Given the description of an element on the screen output the (x, y) to click on. 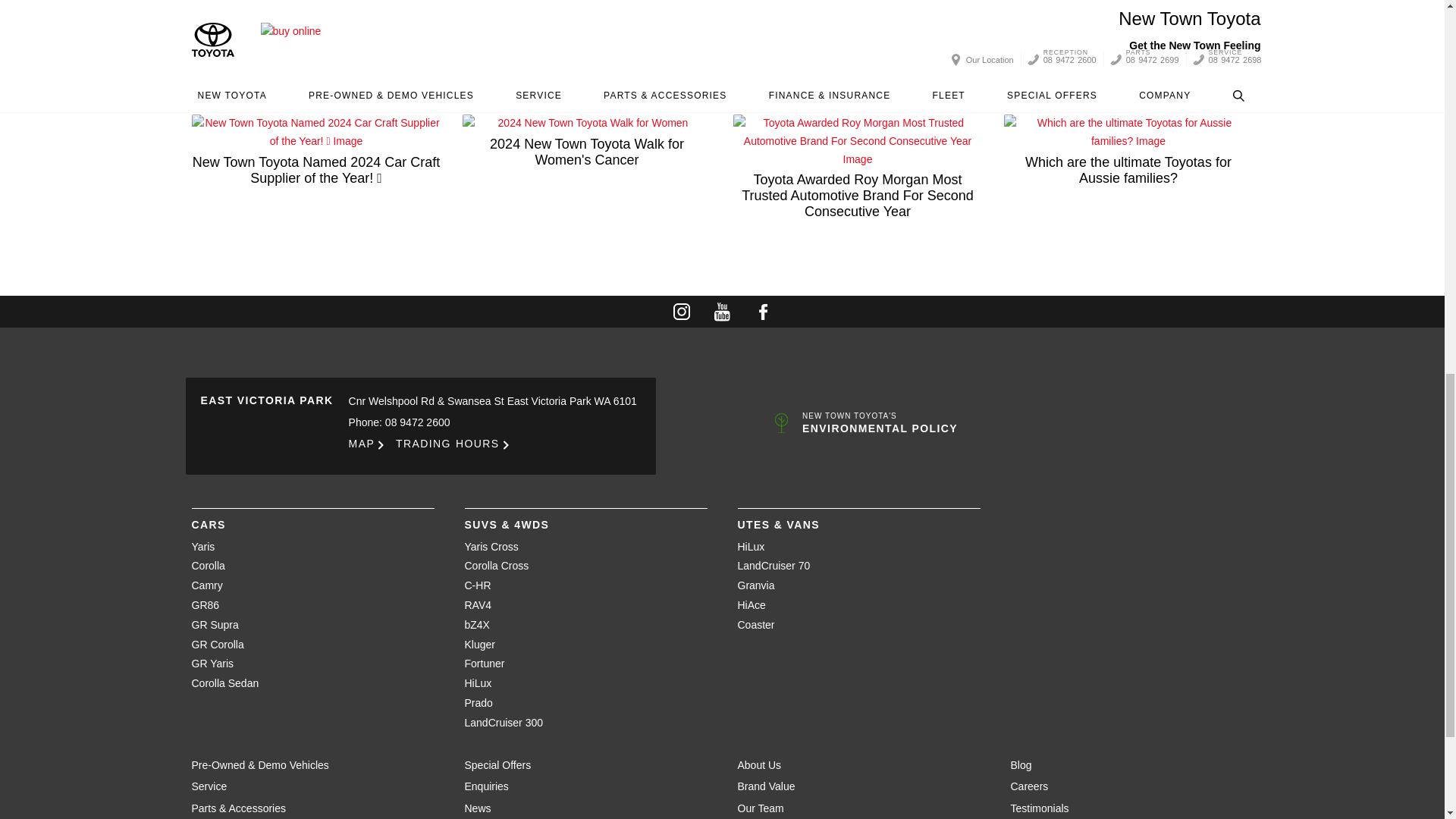
Become a Friend on Facebook (763, 311)
Twitter (1246, 76)
Follow Us on Instagram (681, 311)
Visit our YouTube Channel (722, 311)
Facebook (1231, 76)
